Given the description of an element on the screen output the (x, y) to click on. 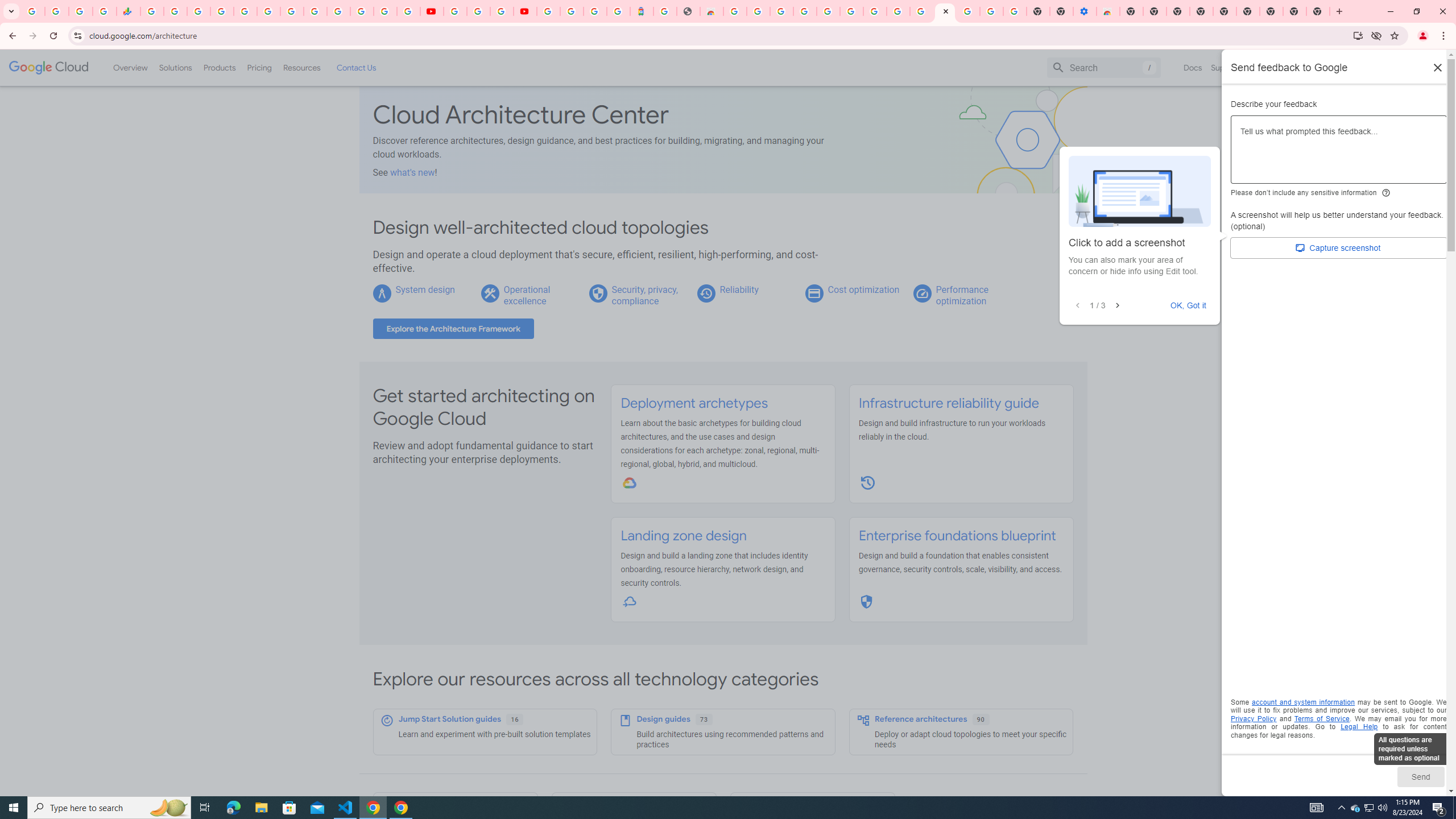
Third-party cookies blocked (1376, 35)
Landing zone design (683, 535)
Describe your feedback (1338, 153)
Settings - Accessibility (1085, 11)
Enterprise foundations blueprint (956, 535)
YouTube (431, 11)
Search (1103, 67)
what's new (412, 172)
New Tab (1318, 11)
Content Creator Programs & Opportunities - YouTube Creators (524, 11)
Support (1225, 67)
